Given the description of an element on the screen output the (x, y) to click on. 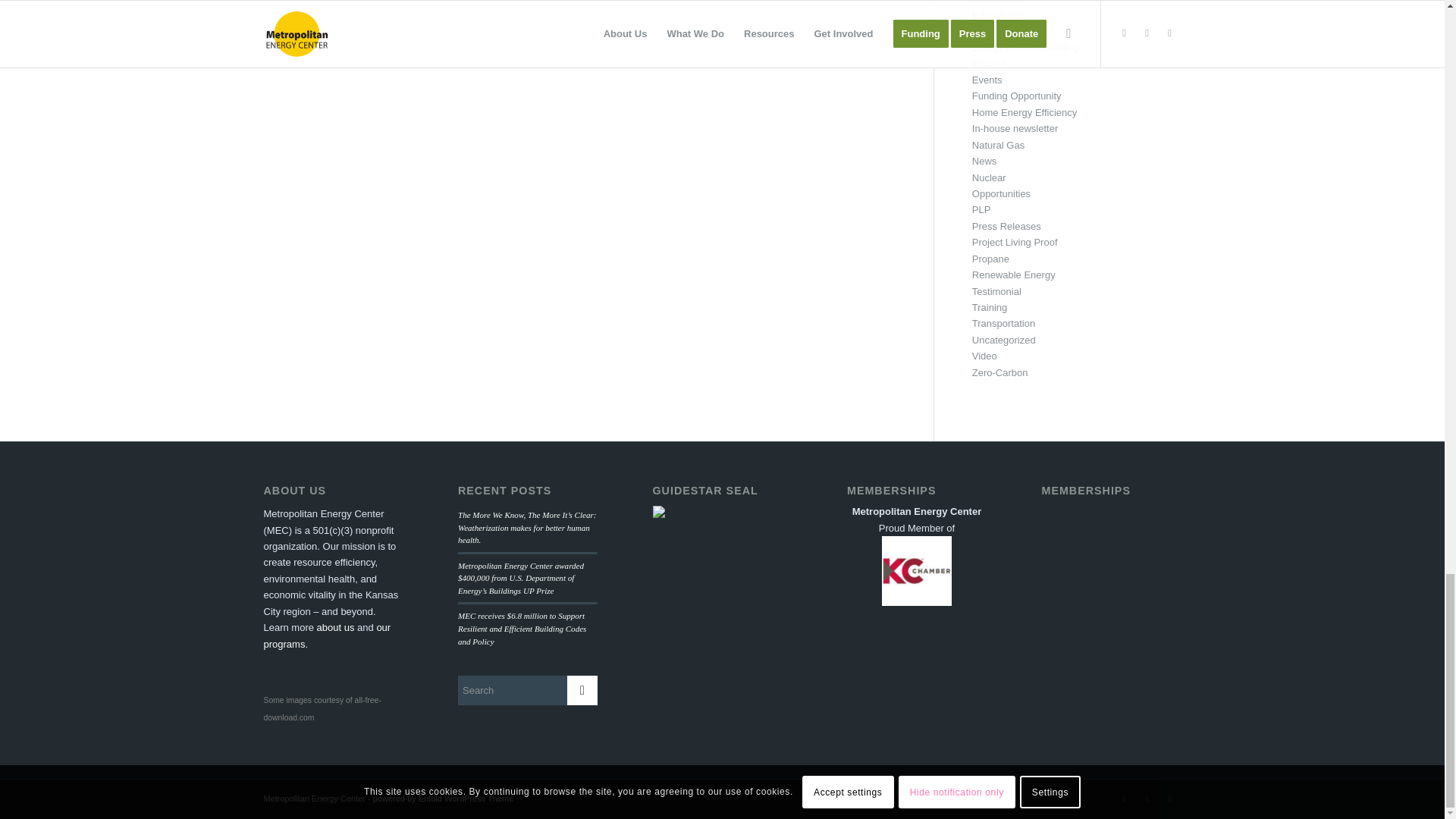
Greater Kansas City Chamber of Commerce (917, 571)
Youtube (1169, 798)
Twitter (1124, 798)
Facebook (1146, 798)
